Given the description of an element on the screen output the (x, y) to click on. 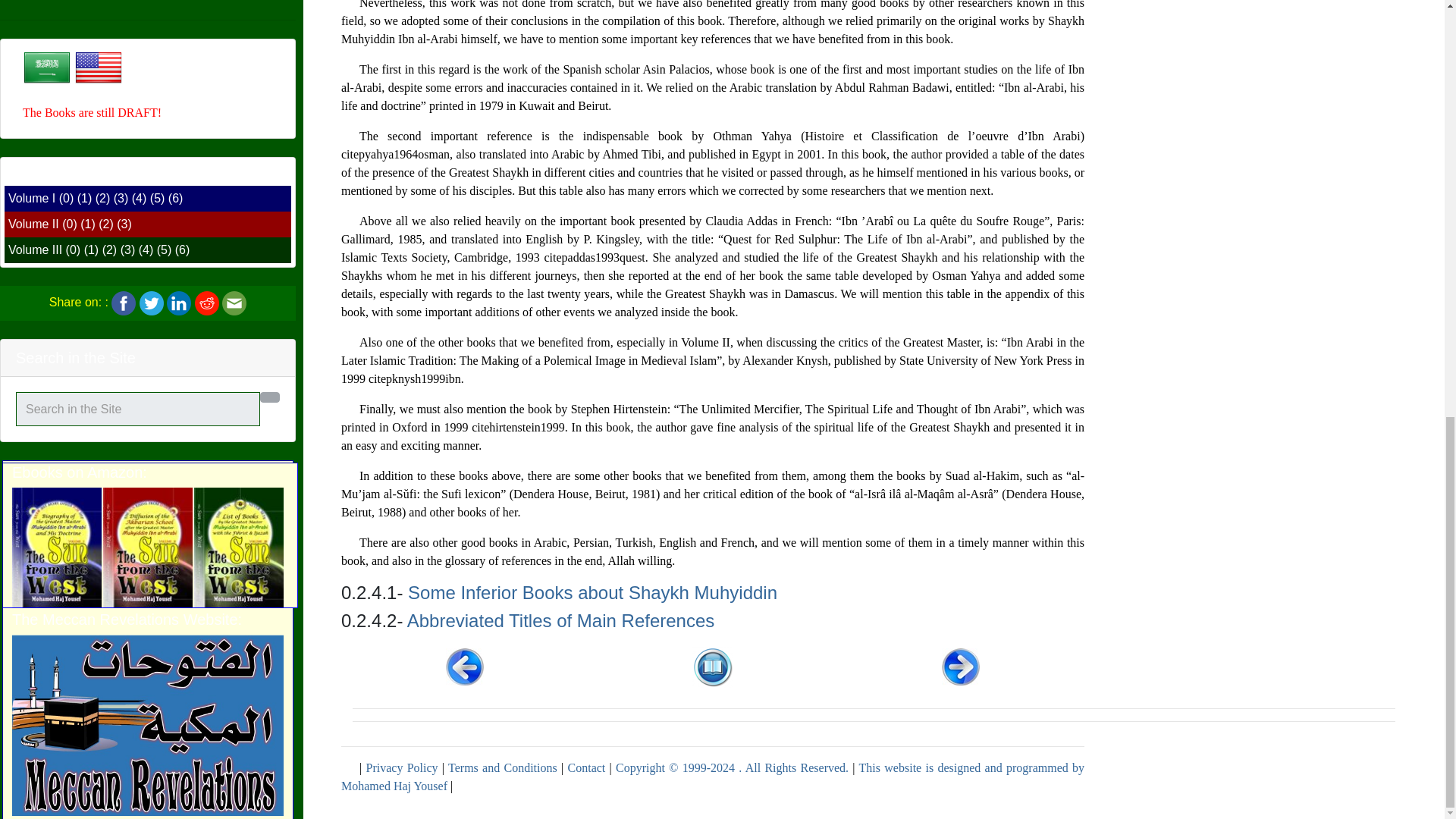
The Sun fromthe West (147, 101)
go back (712, 666)
previous section (464, 666)
next section (960, 666)
About the Author (147, 754)
The Single Monad Model of the Cosmos (147, 377)
